Given the description of an element on the screen output the (x, y) to click on. 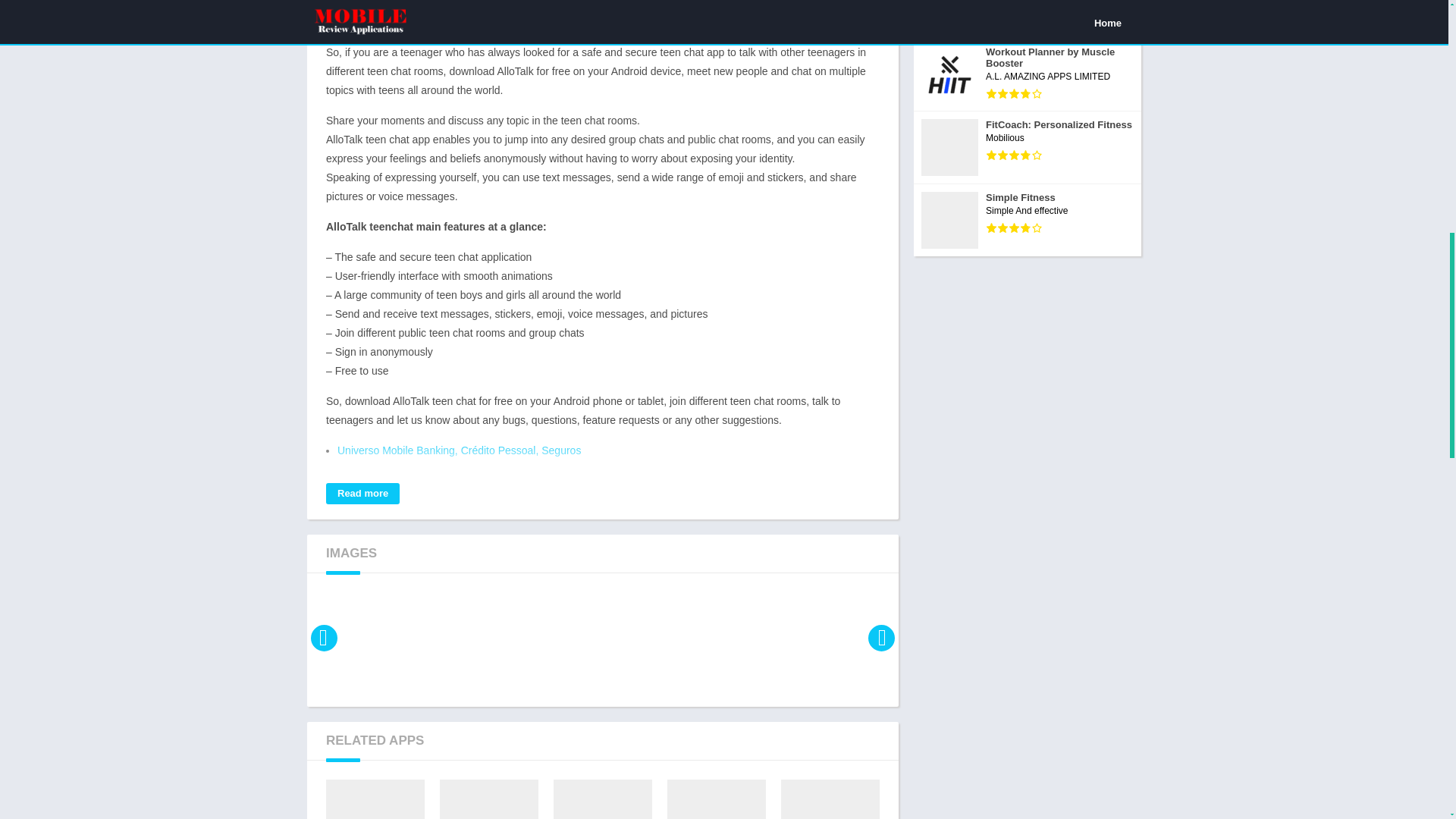
Read more (362, 493)
